Given the description of an element on the screen output the (x, y) to click on. 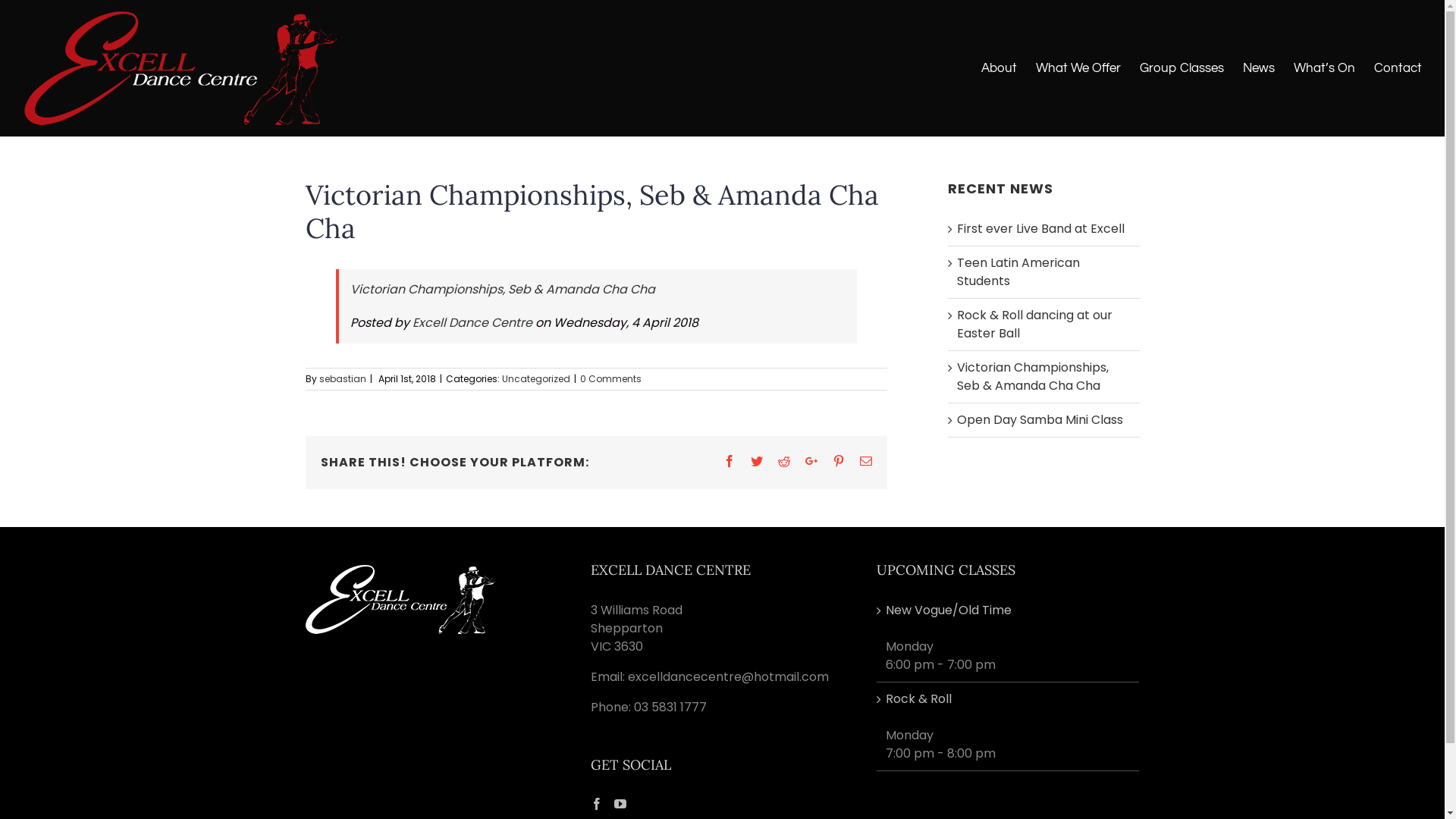
sebastian Element type: text (341, 378)
News Element type: text (1258, 68)
Google+ Element type: text (811, 461)
Excell Dance Centre Element type: text (472, 322)
Rock & Roll Element type: text (1008, 699)
Victorian Championships, Seb & Amanda Cha Cha Element type: text (1032, 376)
About Element type: text (998, 68)
Twitter Element type: text (756, 461)
Group Classes Element type: text (1181, 68)
First ever Live Band at Excell Element type: text (1040, 228)
Victorian Championships, Seb & Amanda Cha Cha Element type: text (502, 289)
Facebook Element type: text (729, 461)
Uncategorized Element type: text (536, 378)
Rock & Roll dancing at our Easter Ball Element type: text (1034, 324)
Contact Element type: text (1397, 68)
Open Day Samba Mini Class Element type: text (1040, 419)
0 Comments Element type: text (609, 378)
Pinterest Element type: text (838, 461)
Reddit Element type: text (784, 461)
What We Offer Element type: text (1077, 68)
Email Element type: text (865, 461)
Teen Latin American Students Element type: text (1018, 271)
New Vogue/Old Time Element type: text (1008, 610)
